Given the description of an element on the screen output the (x, y) to click on. 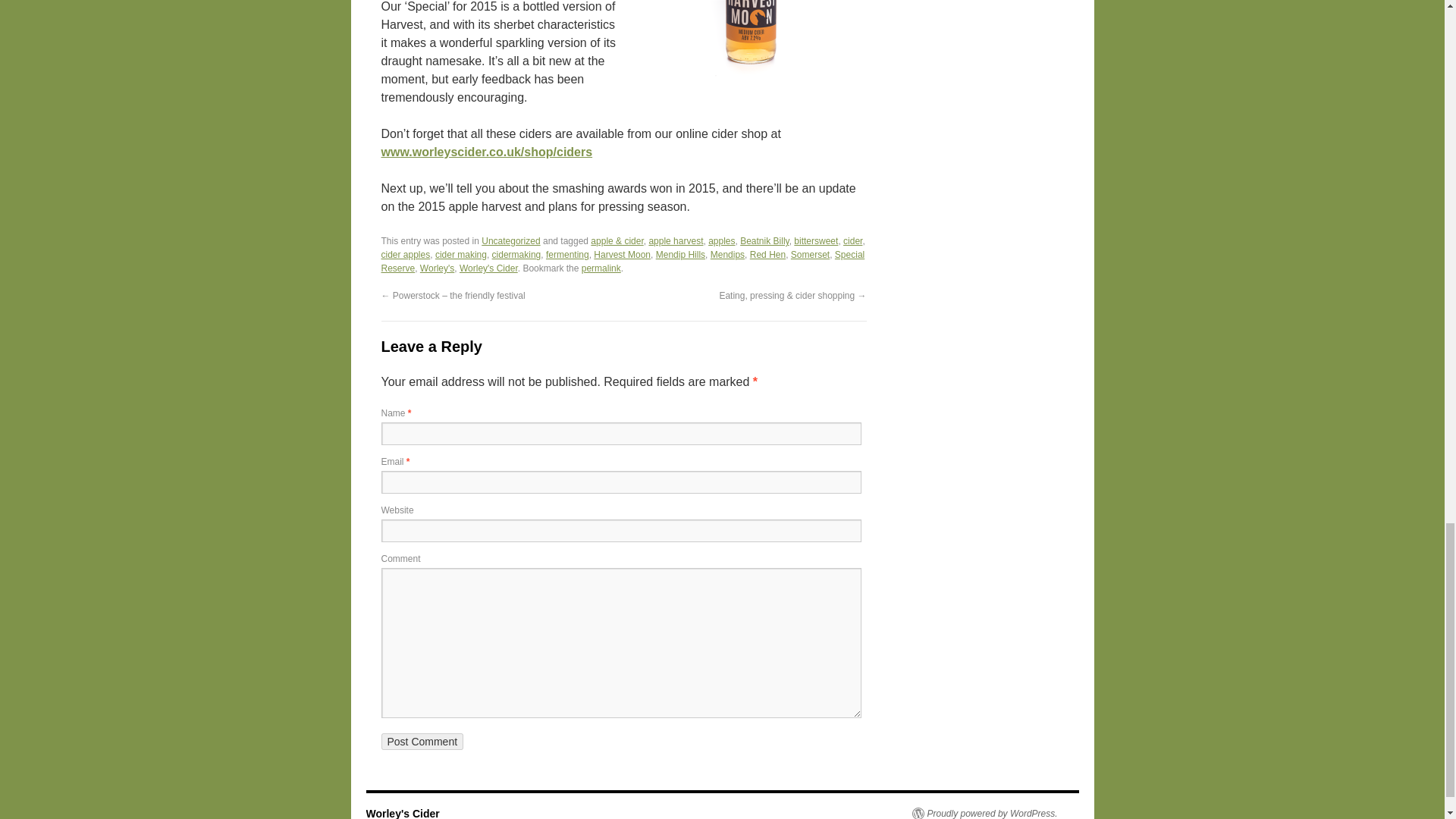
cider (852, 240)
Post Comment (421, 741)
Somerset (809, 254)
cider apples (404, 254)
fermenting (567, 254)
permalink (600, 267)
Special Reserve (622, 261)
Worley's Cider (489, 267)
Beatnik Billy (764, 240)
Mendips (727, 254)
